Given the description of an element on the screen output the (x, y) to click on. 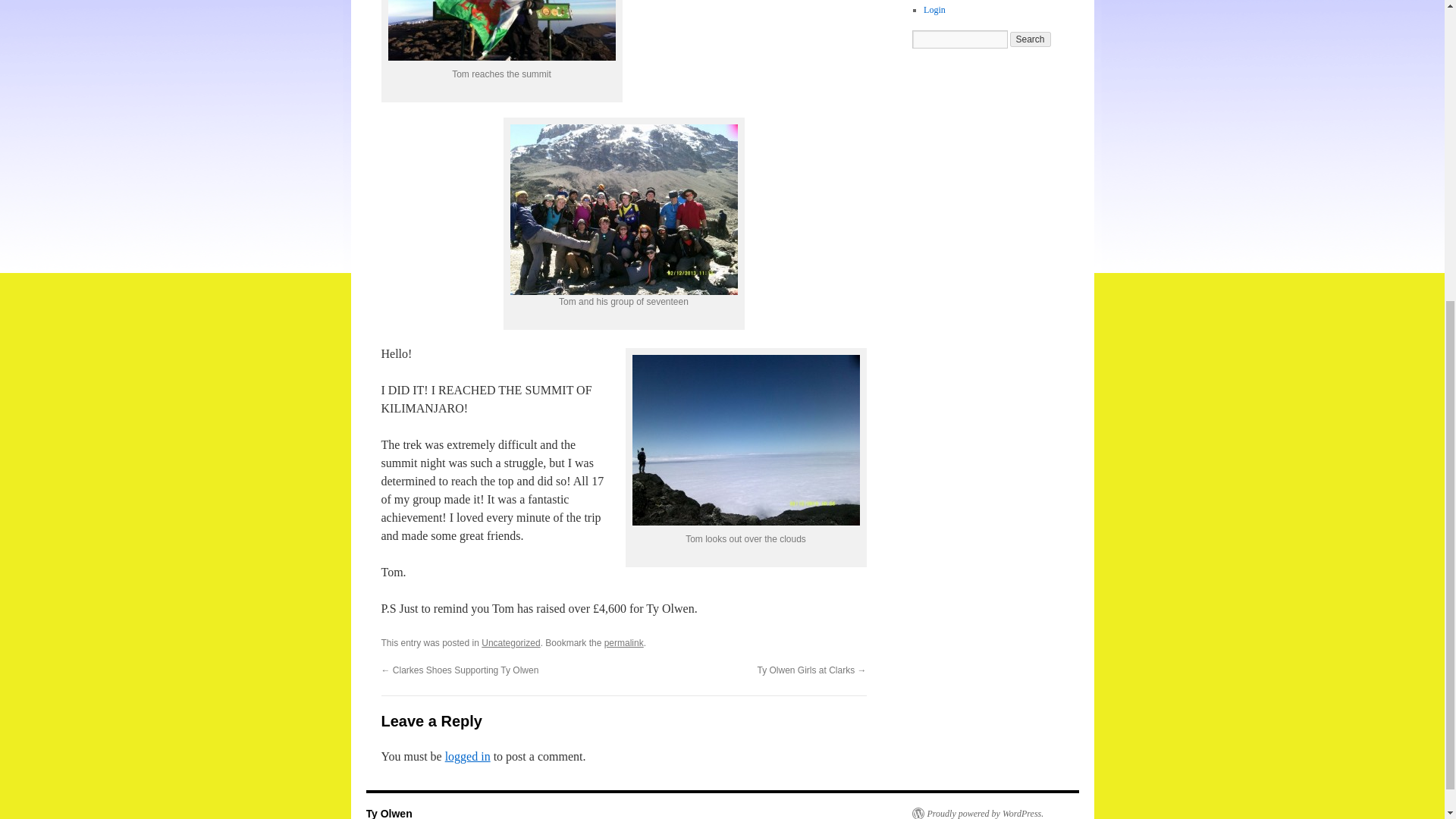
Tom 3 (745, 439)
permalink (623, 643)
Tom 2 (622, 209)
Search (1030, 38)
Tom 1 (501, 30)
Permalink to Tom Goss on Kiliminjaro (623, 643)
Uncategorized (510, 643)
logged in (467, 756)
